Given the description of an element on the screen output the (x, y) to click on. 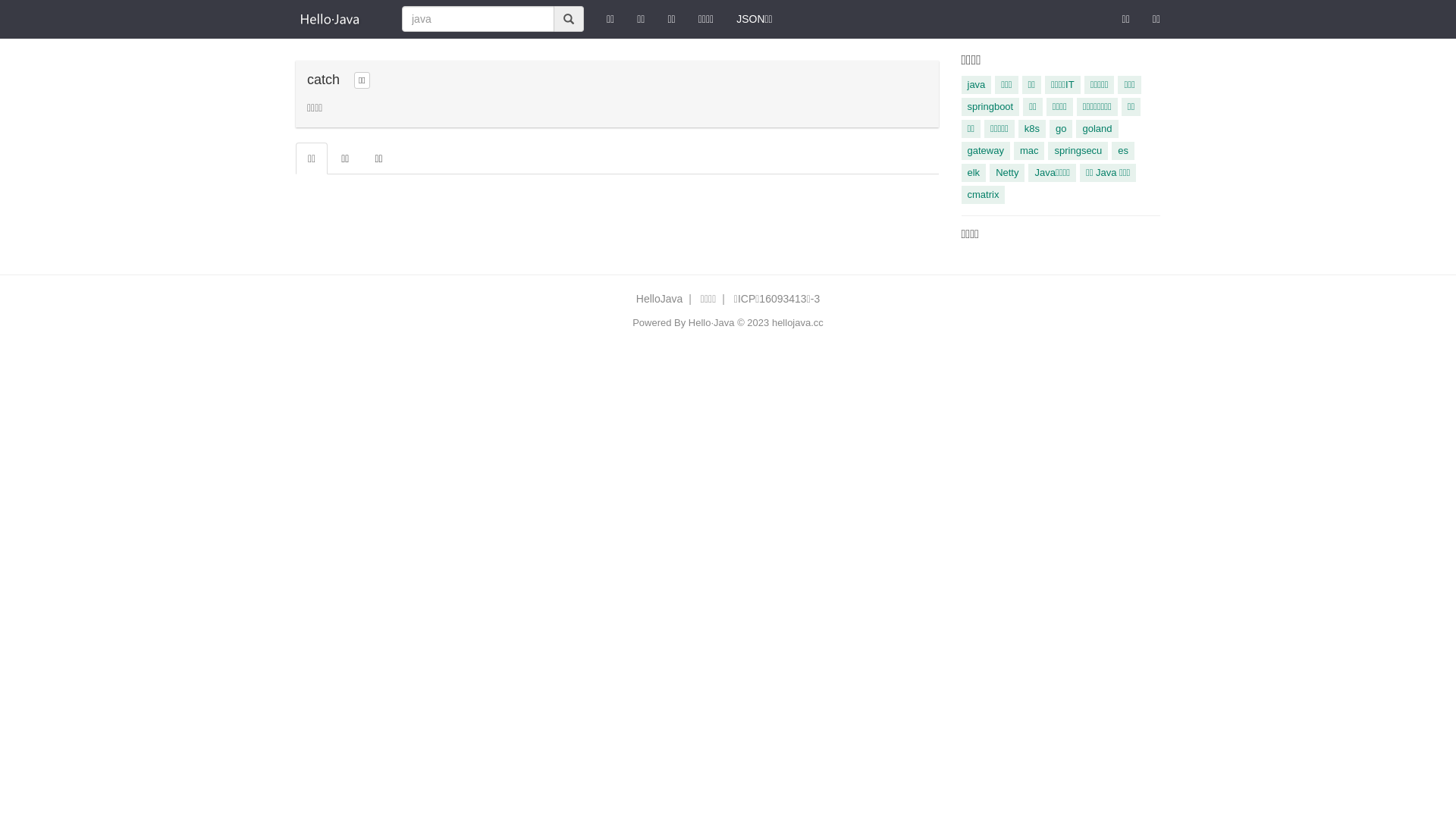
mac Element type: text (1028, 150)
cmatrix Element type: text (983, 194)
goland Element type: text (1096, 128)
es Element type: text (1122, 150)
java Element type: text (976, 84)
springboot Element type: text (990, 106)
springsecu Element type: text (1077, 150)
Netty Element type: text (1006, 172)
gateway Element type: text (985, 150)
k8s Element type: text (1031, 128)
go Element type: text (1060, 128)
HelloJava Element type: text (659, 298)
elk Element type: text (973, 172)
